Given the description of an element on the screen output the (x, y) to click on. 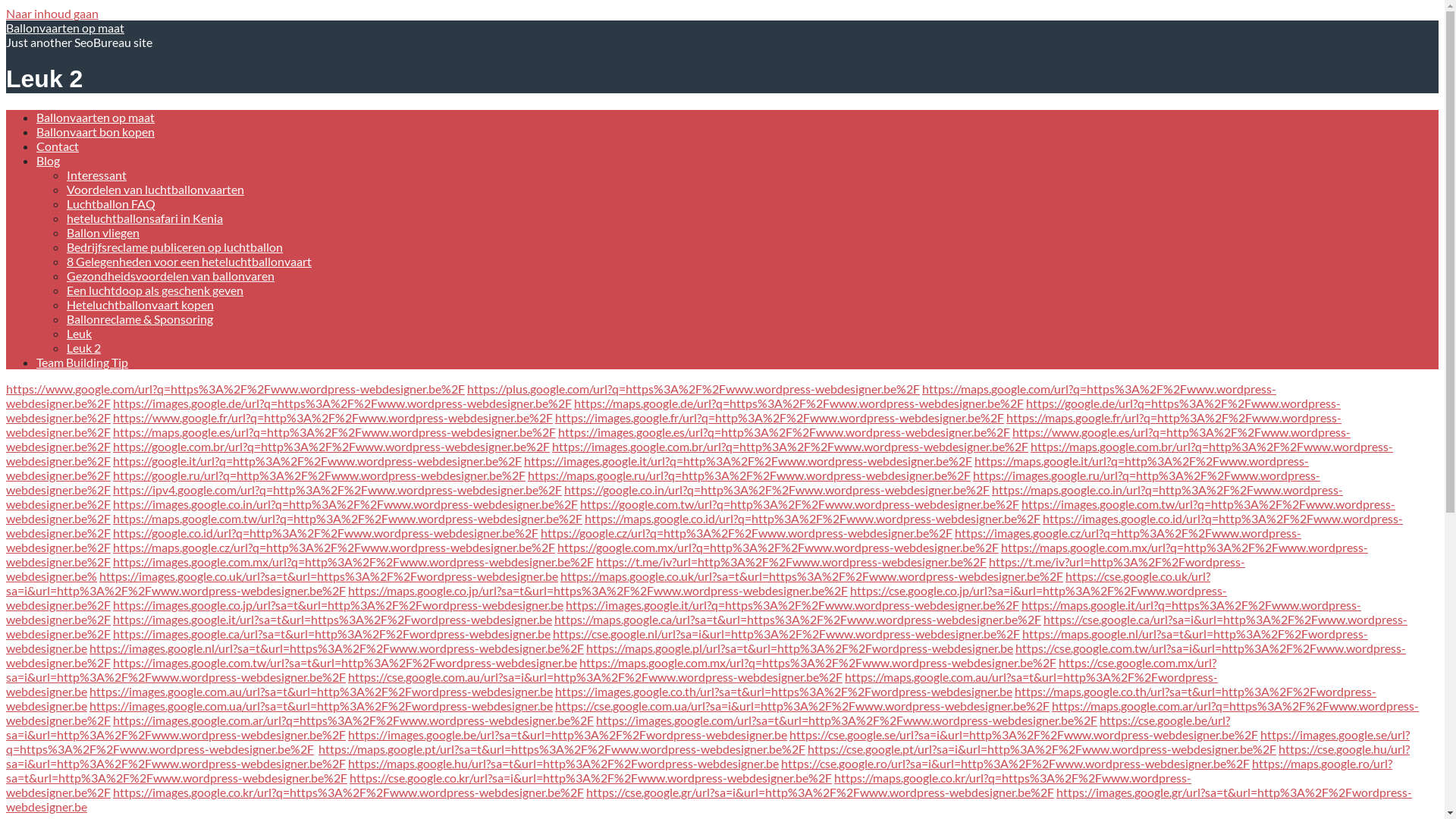
Ballon vliegen Element type: text (102, 232)
Contact Element type: text (57, 145)
Naar inhoud gaan Element type: text (52, 13)
Ballonvaarten op maat Element type: text (95, 116)
Een luchtdoop als geschenk geven Element type: text (154, 289)
heteluchtballonsafari in Kenia Element type: text (144, 217)
Interessant Element type: text (96, 174)
Ballonreclame & Sponsoring Element type: text (139, 318)
Heteluchtballonvaart kopen Element type: text (139, 304)
Blog Element type: text (47, 160)
Ballonvaarten op maat Element type: text (65, 27)
Gezondheidsvoordelen van ballonvaren Element type: text (170, 275)
Leuk 2 Element type: text (83, 347)
Luchtballon FAQ Element type: text (110, 203)
Bedrijfsreclame publiceren op luchtballon Element type: text (174, 246)
8 Gelegenheden voor een heteluchtballonvaart Element type: text (188, 261)
Leuk Element type: text (78, 333)
Voordelen van luchtballonvaarten Element type: text (155, 189)
Team Building Tip Element type: text (82, 361)
Ballonvaart bon kopen Element type: text (95, 131)
https://t.me/iv?url=http%3A%2F%2Fwordpress-webdesigner.be% Element type: text (625, 568)
